Given the description of an element on the screen output the (x, y) to click on. 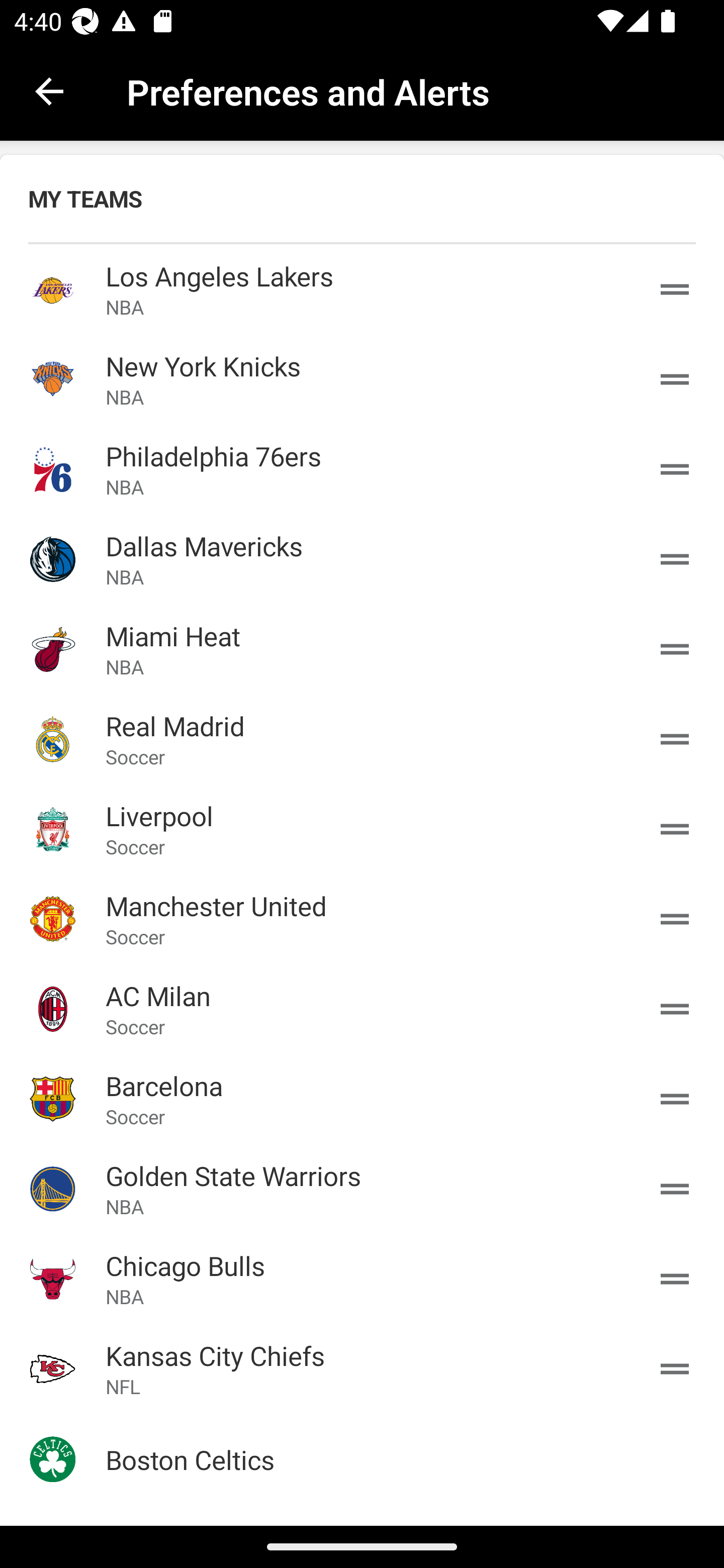
back.button (49, 90)
Miami Heat Miami Heat Miami Heat NBA NBA (362, 648)
Real Madrid Real Madrid Real Madrid Soccer Soccer (362, 739)
Liverpool Liverpool Liverpool Soccer Soccer (362, 828)
AC Milan AC Milan AC Milan Soccer Soccer (362, 1008)
Barcelona Barcelona Barcelona Soccer Soccer (362, 1098)
Chicago Bulls Chicago Bulls Chicago Bulls NBA NBA (362, 1278)
Boston Celtics Boston Celtics Boston Celtics (362, 1459)
